Given the description of an element on the screen output the (x, y) to click on. 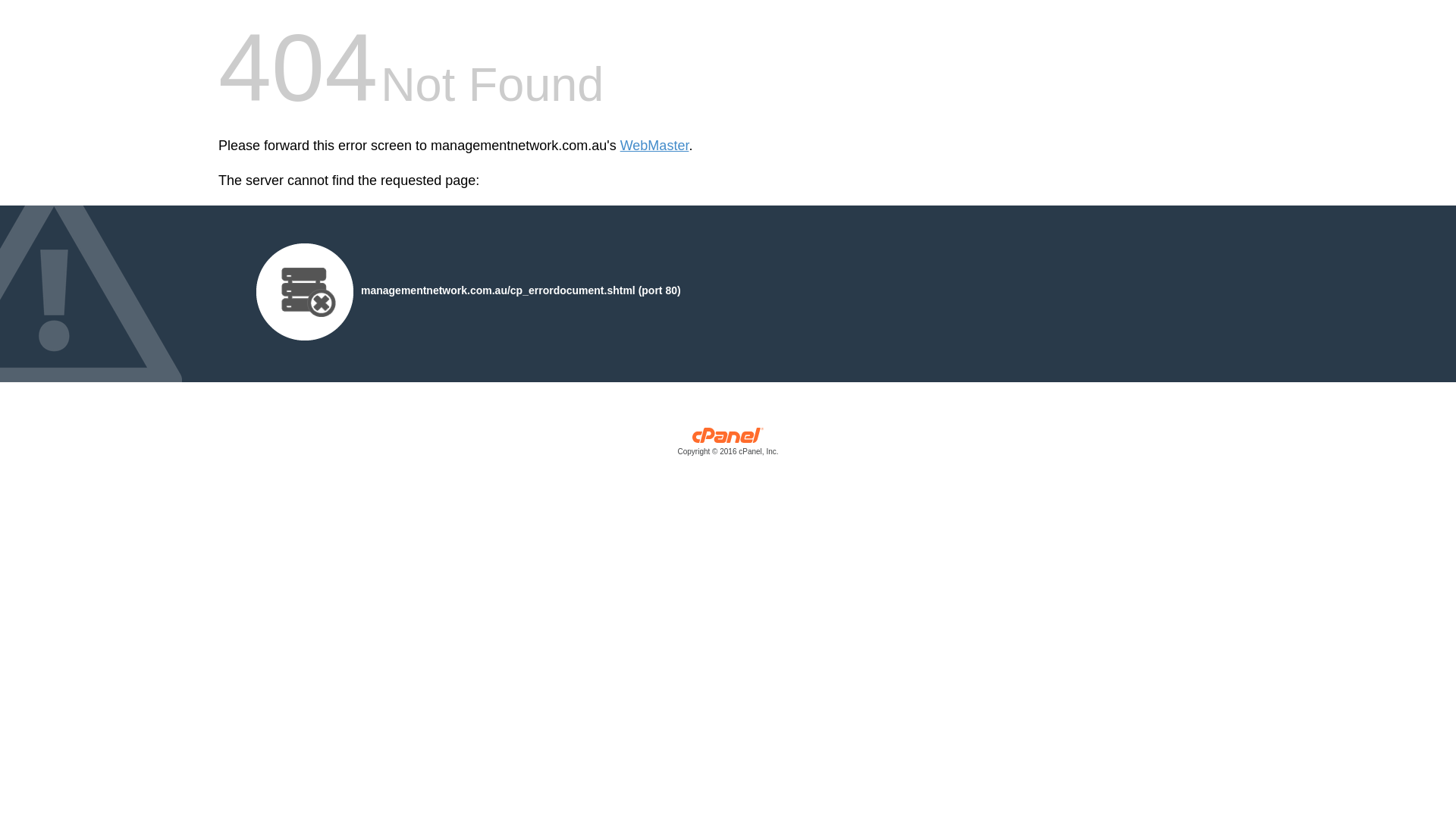
WebMaster Element type: text (654, 145)
